Given the description of an element on the screen output the (x, y) to click on. 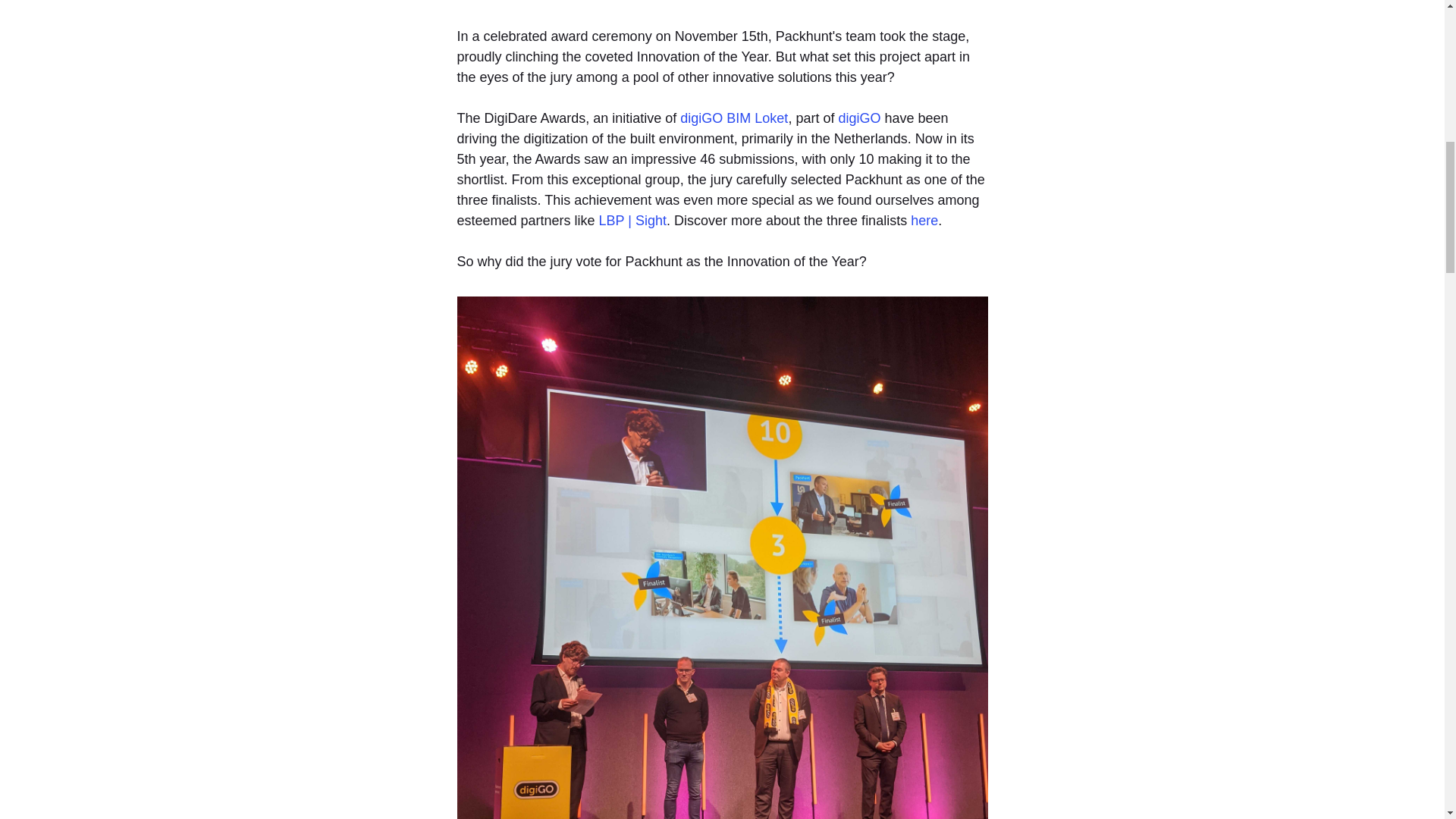
here (924, 220)
digiGO BIM Loket (733, 118)
digiGO (859, 118)
